Given the description of an element on the screen output the (x, y) to click on. 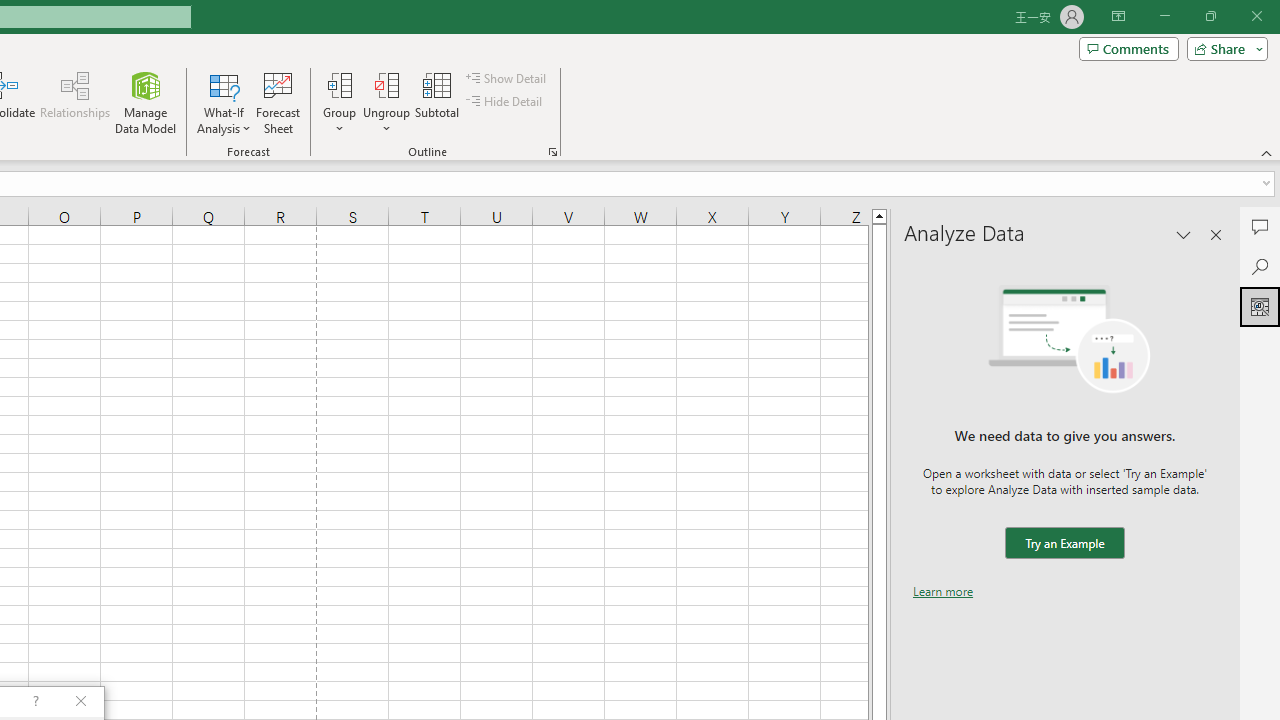
Line up (879, 215)
Group... (339, 102)
What-If Analysis (223, 102)
Analyze Data (1260, 306)
We need data to give you answers. Try an Example (1064, 543)
Comments (1128, 48)
Share (1223, 48)
Close pane (1215, 234)
More Options (386, 121)
Manage Data Model (145, 102)
Forecast Sheet (278, 102)
Ungroup... (386, 84)
Learn more (943, 591)
Ribbon Display Options (1118, 16)
